Given the description of an element on the screen output the (x, y) to click on. 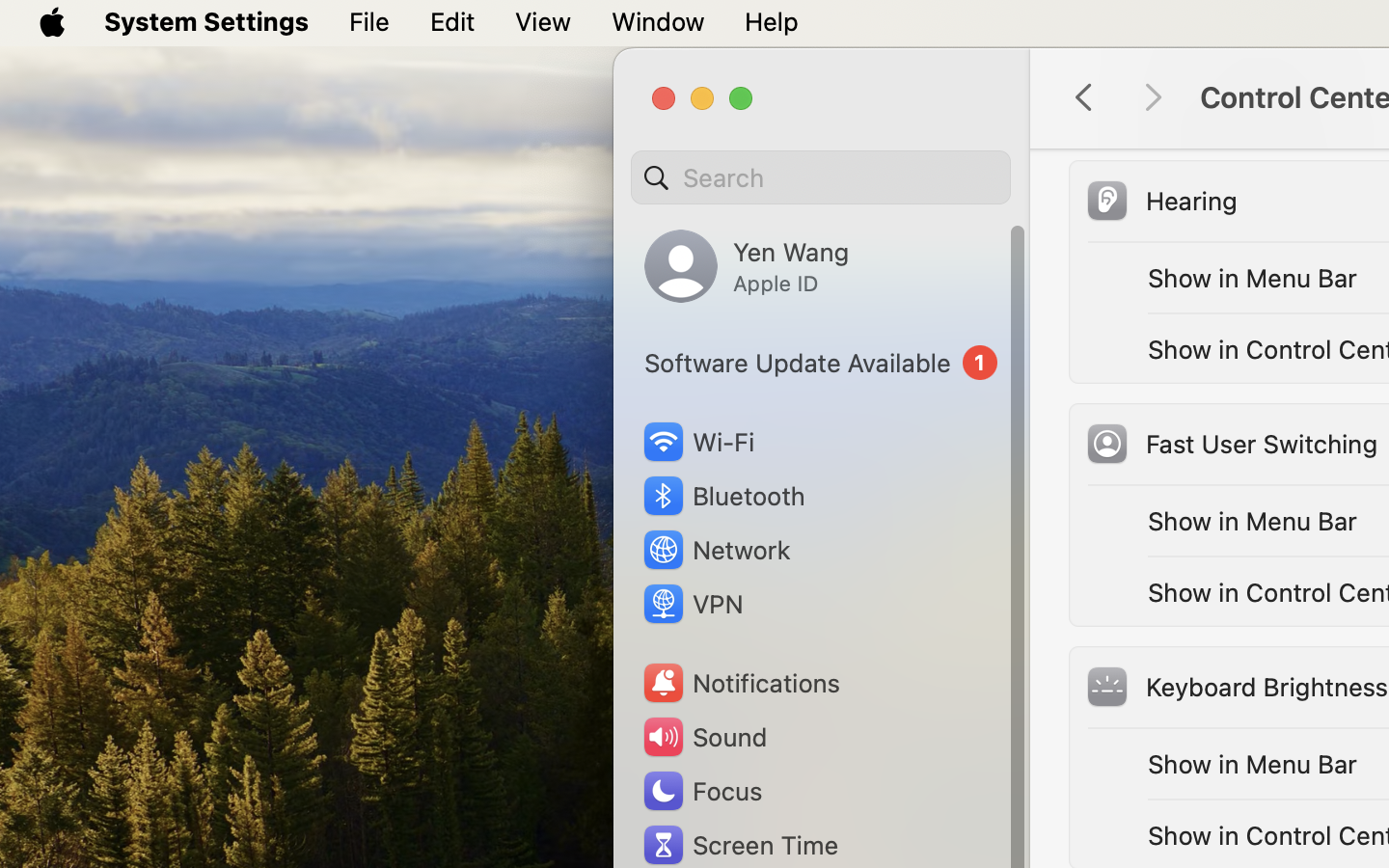
Show in Menu Bar Element type: AXStaticText (1252, 763)
Fast User Switching Element type: AXStaticText (1230, 443)
Show Percentage Element type: AXStaticText (1249, 105)
Focus Element type: AXStaticText (701, 790)
Screen Time Element type: AXStaticText (739, 844)
